Given the description of an element on the screen output the (x, y) to click on. 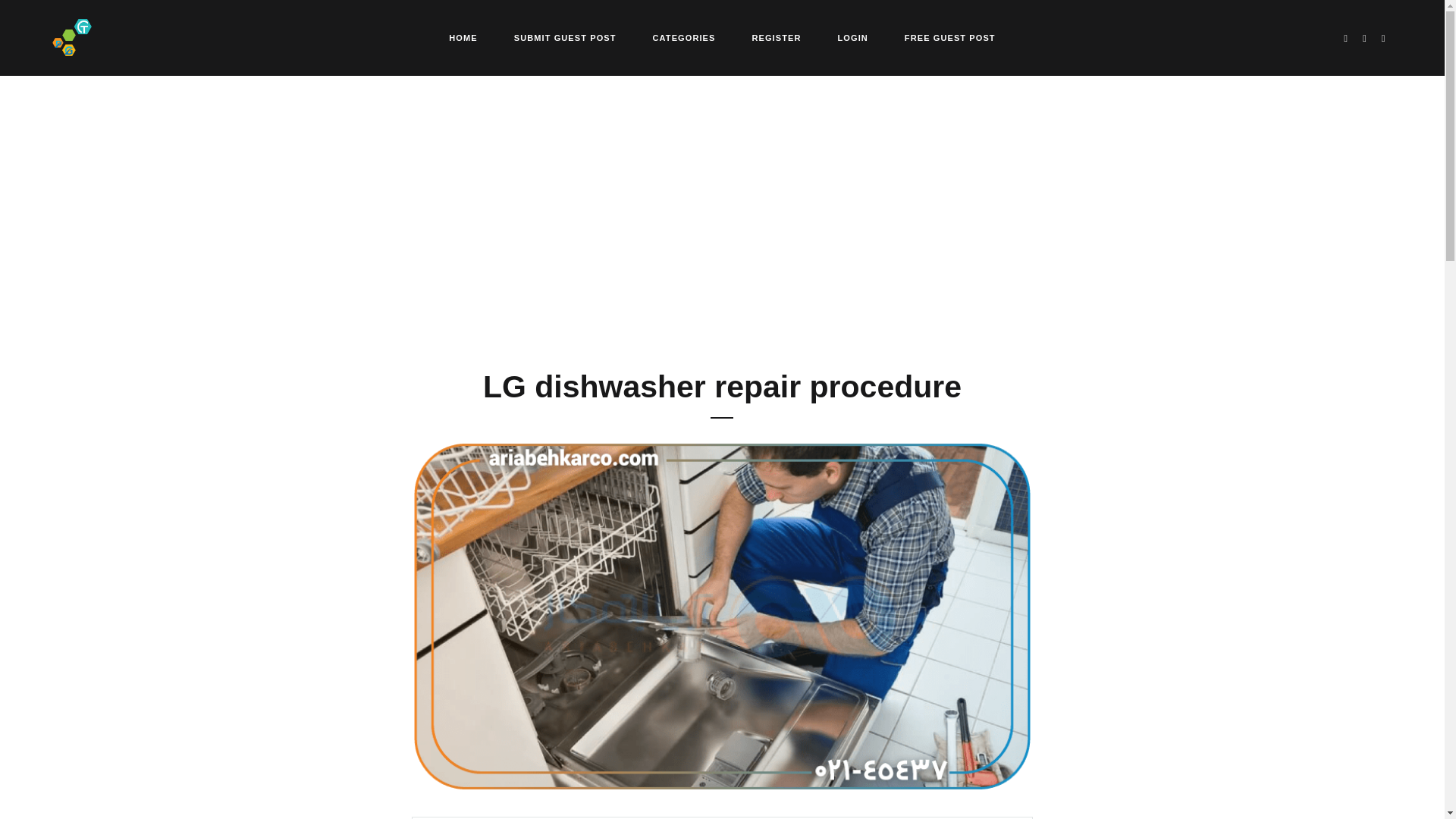
REGISTER (775, 38)
CATEGORIES (684, 38)
HOME (462, 38)
LinkedIn (1383, 38)
SUBMIT GUEST POST (564, 38)
Facebook (1364, 38)
FREE GUEST POST (949, 38)
Twitter (1345, 38)
LOGIN (852, 38)
